Given the description of an element on the screen output the (x, y) to click on. 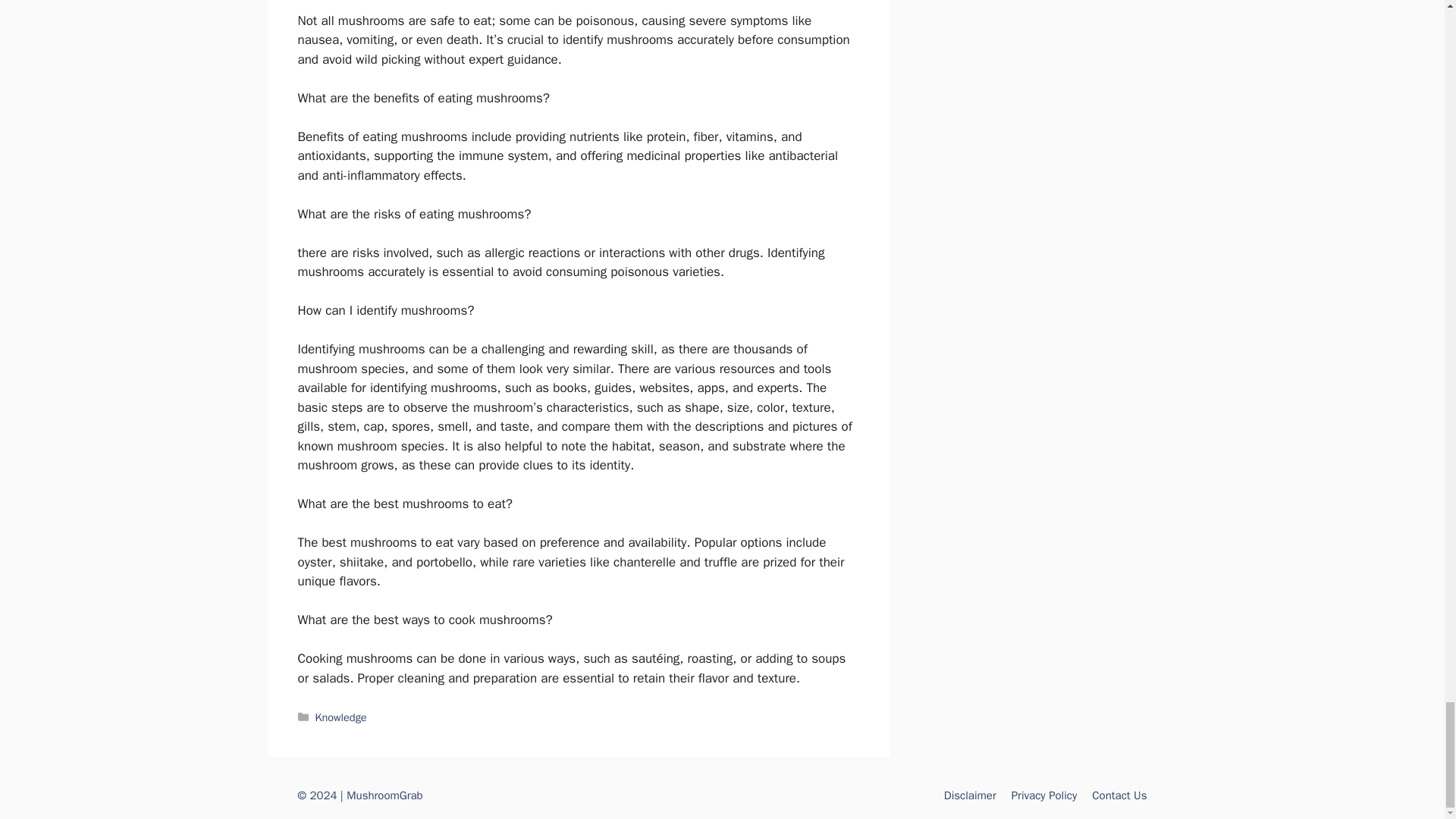
Privacy Policy (1044, 795)
Contact Us (1119, 795)
Knowledge (340, 716)
Disclaimer (969, 795)
